Given the description of an element on the screen output the (x, y) to click on. 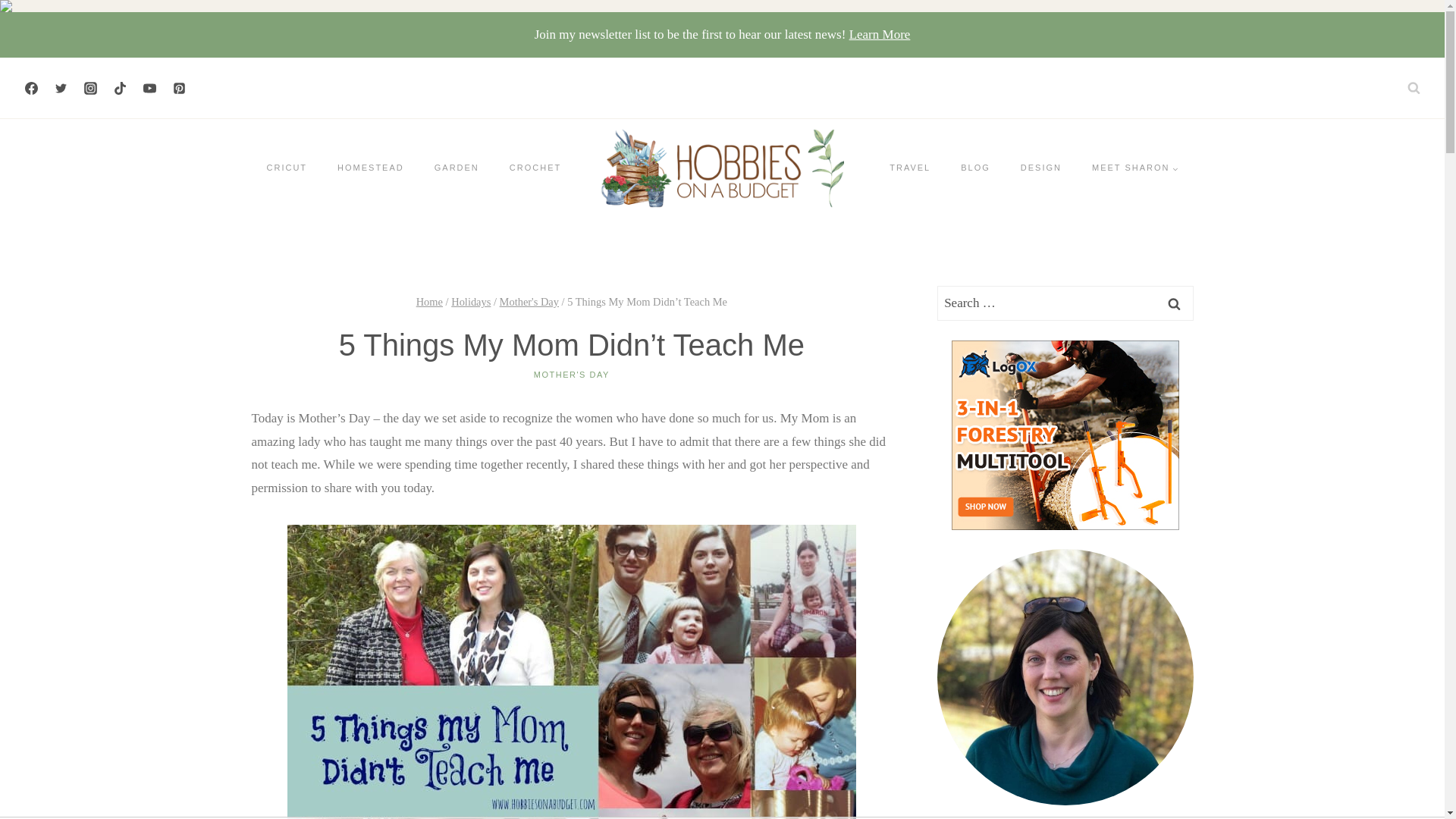
Learn More (879, 34)
MOTHER'S DAY (572, 374)
CRICUT (287, 168)
TRAVEL (909, 168)
GARDEN (457, 168)
MEET SHARON (1134, 168)
CROCHET (535, 168)
Home (429, 301)
BLOG (975, 168)
Mother's Day (529, 301)
HOMESTEAD (370, 168)
Search (1174, 303)
Holidays (470, 301)
DESIGN (1041, 168)
Search (1174, 303)
